Given the description of an element on the screen output the (x, y) to click on. 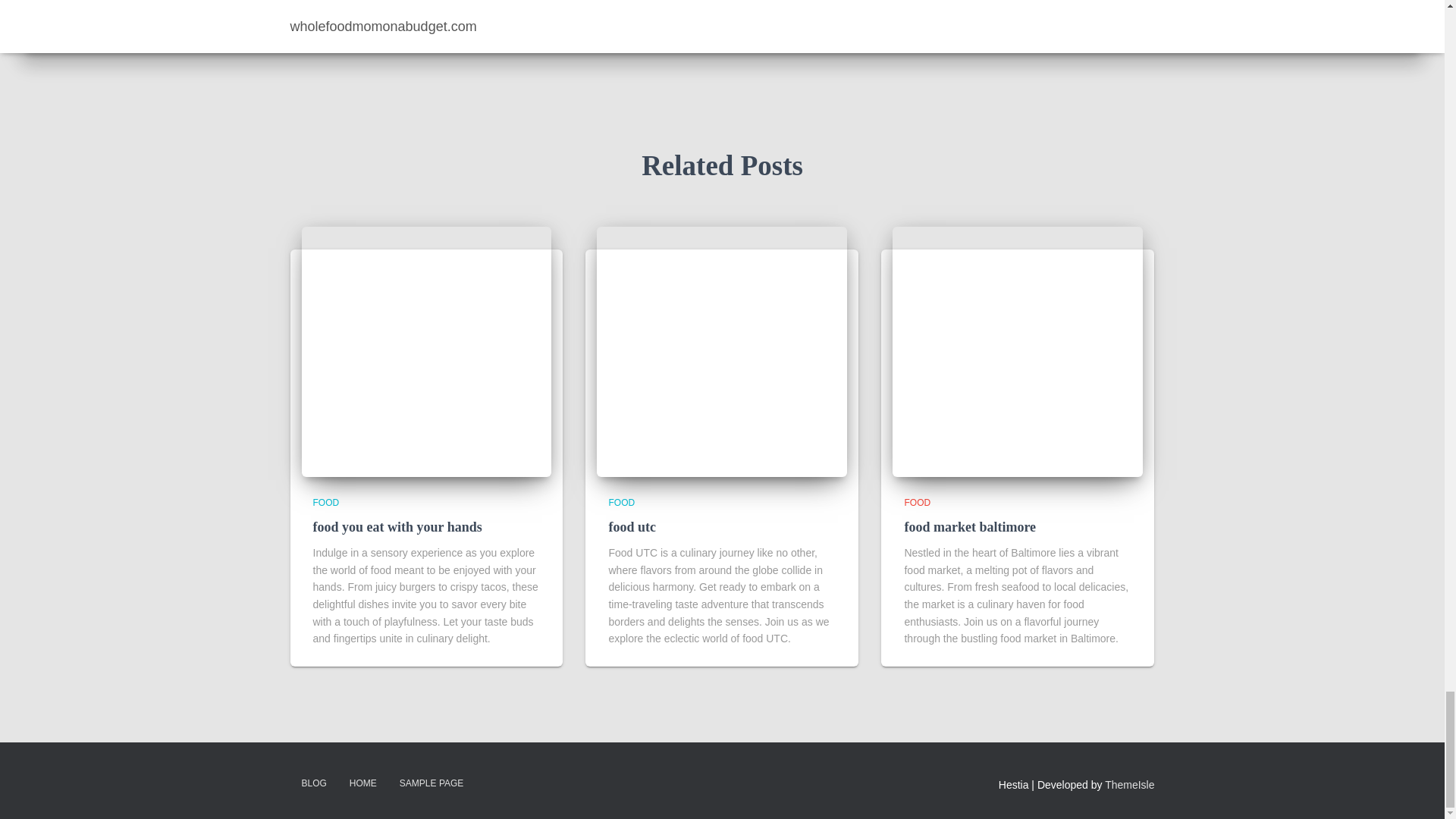
View all posts in Food (326, 502)
View all posts in Food (621, 502)
food utc (632, 526)
food you eat with your hands (426, 351)
food utc (721, 351)
food you eat with your hands (397, 526)
